Given the description of an element on the screen output the (x, y) to click on. 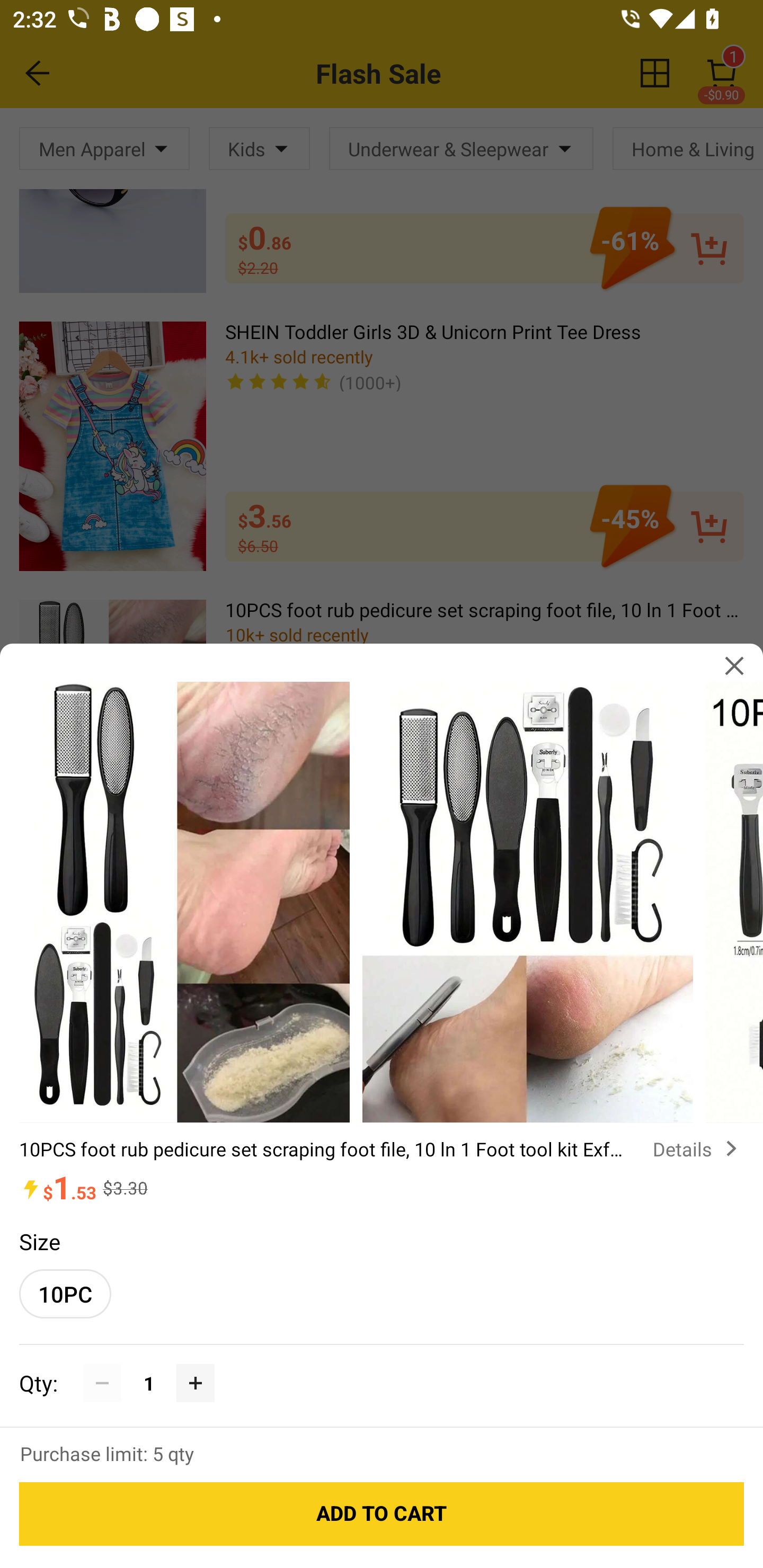
Details (698, 1148)
Size (39, 1240)
10PC 10PCunselected option (65, 1293)
ADD TO CART (381, 1513)
